Given the description of an element on the screen output the (x, y) to click on. 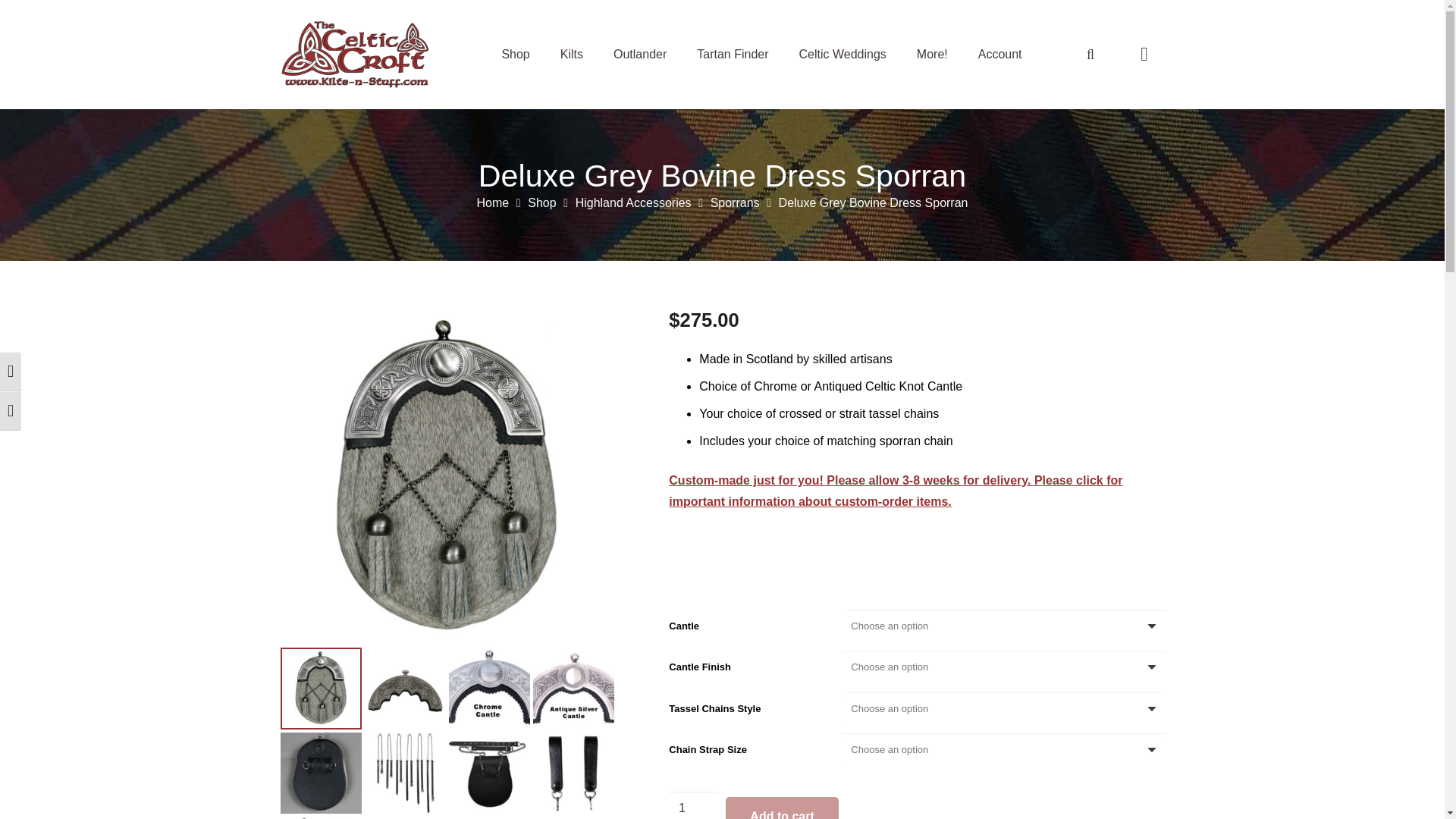
1 (693, 805)
